Given the description of an element on the screen output the (x, y) to click on. 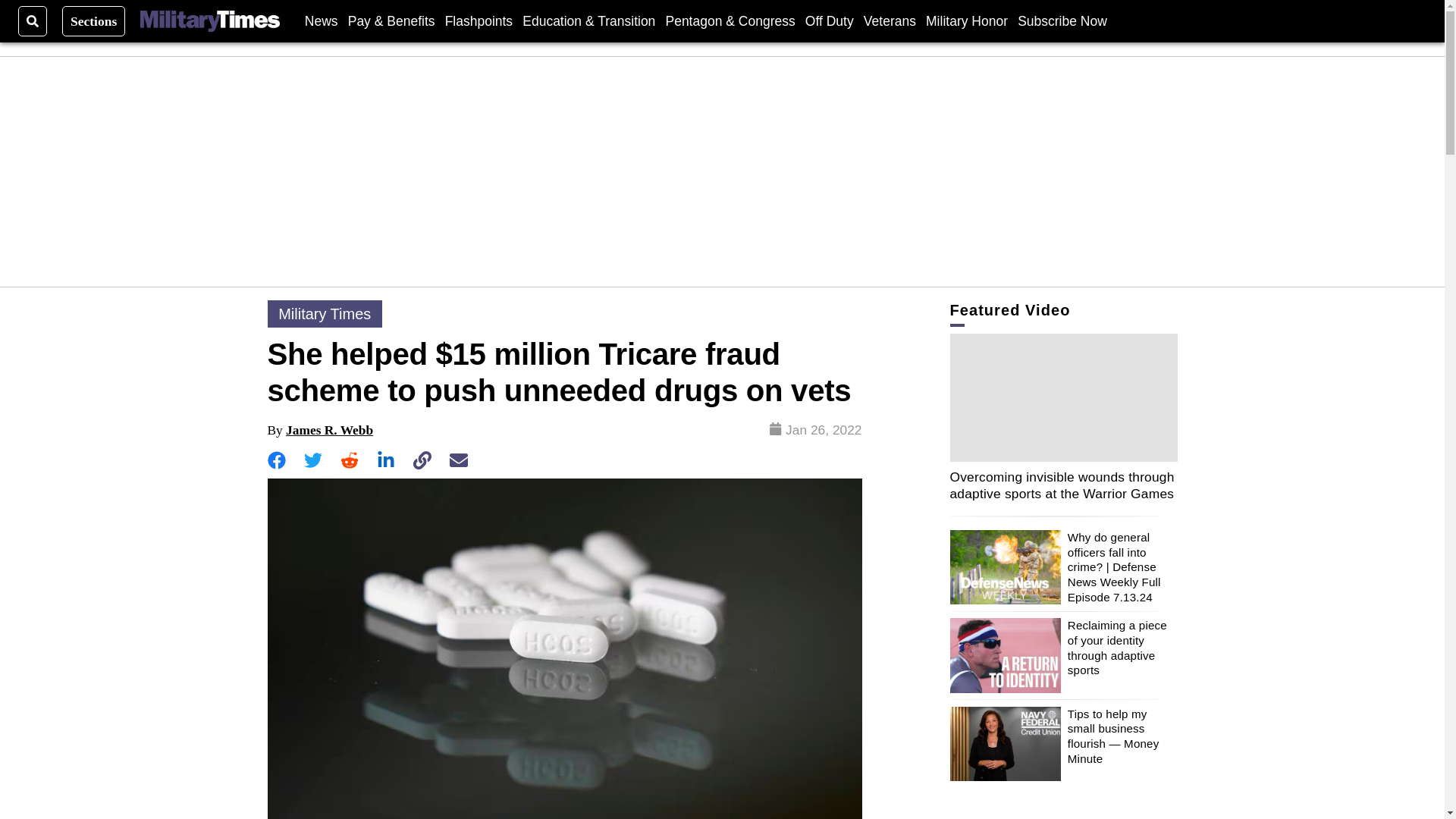
Off Duty (829, 20)
Veterans (889, 20)
Military Honor (966, 20)
Sections (93, 20)
Flashpoints (479, 20)
Military Times Logo (209, 20)
News (320, 20)
